Given the description of an element on the screen output the (x, y) to click on. 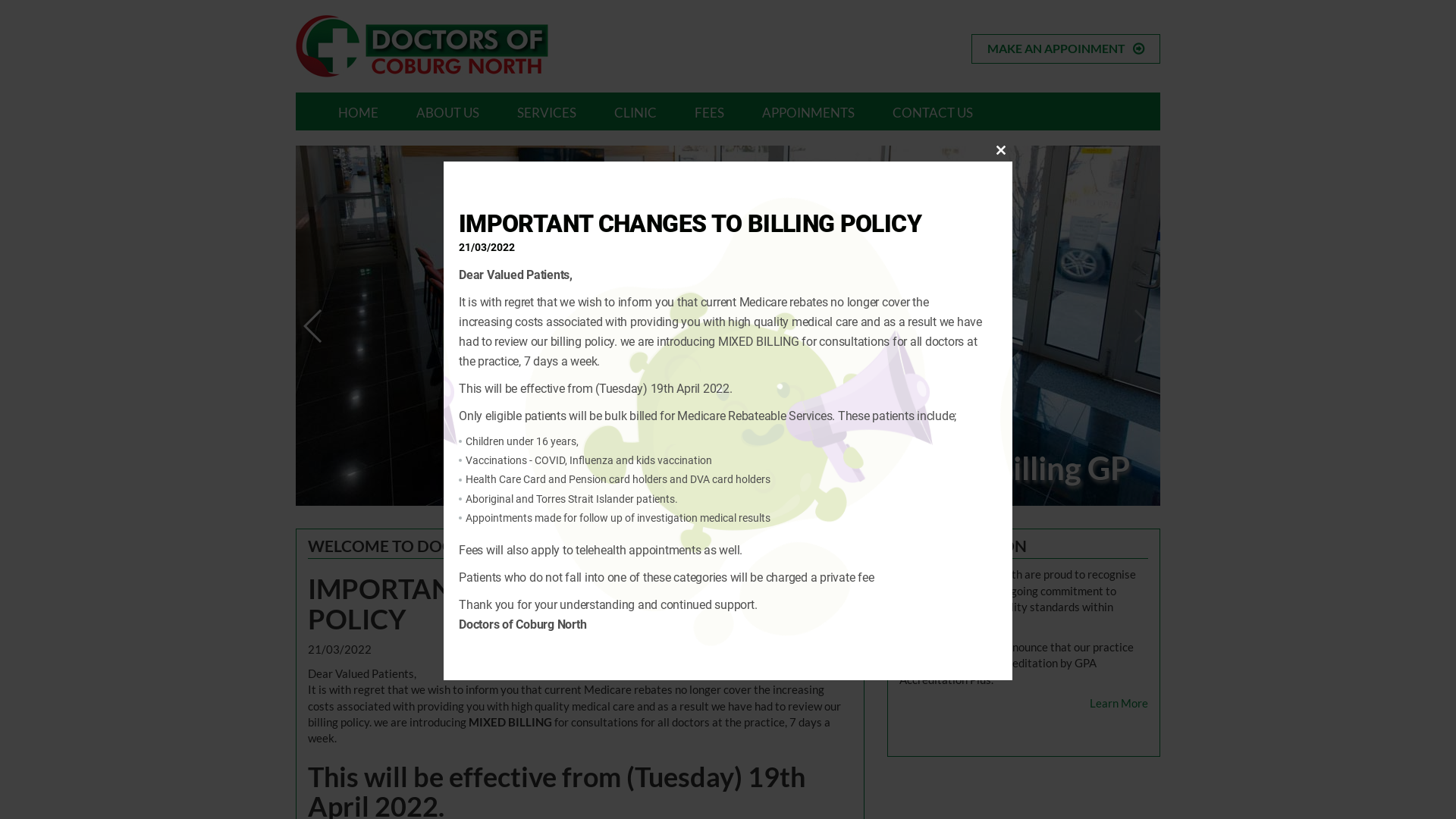
MAKE AN APPOINMENT Element type: text (1065, 48)
Learn More Element type: text (1118, 703)
HOME Element type: text (358, 111)
ABOUT US Element type: text (447, 111)
CLINIC Element type: text (635, 111)
FEES Element type: text (709, 111)
SERVICES Element type: text (546, 111)
Close this module Element type: text (1000, 149)
CONTACT US Element type: text (932, 111)
APPOINMENTS Element type: text (808, 111)
